Given the description of an element on the screen output the (x, y) to click on. 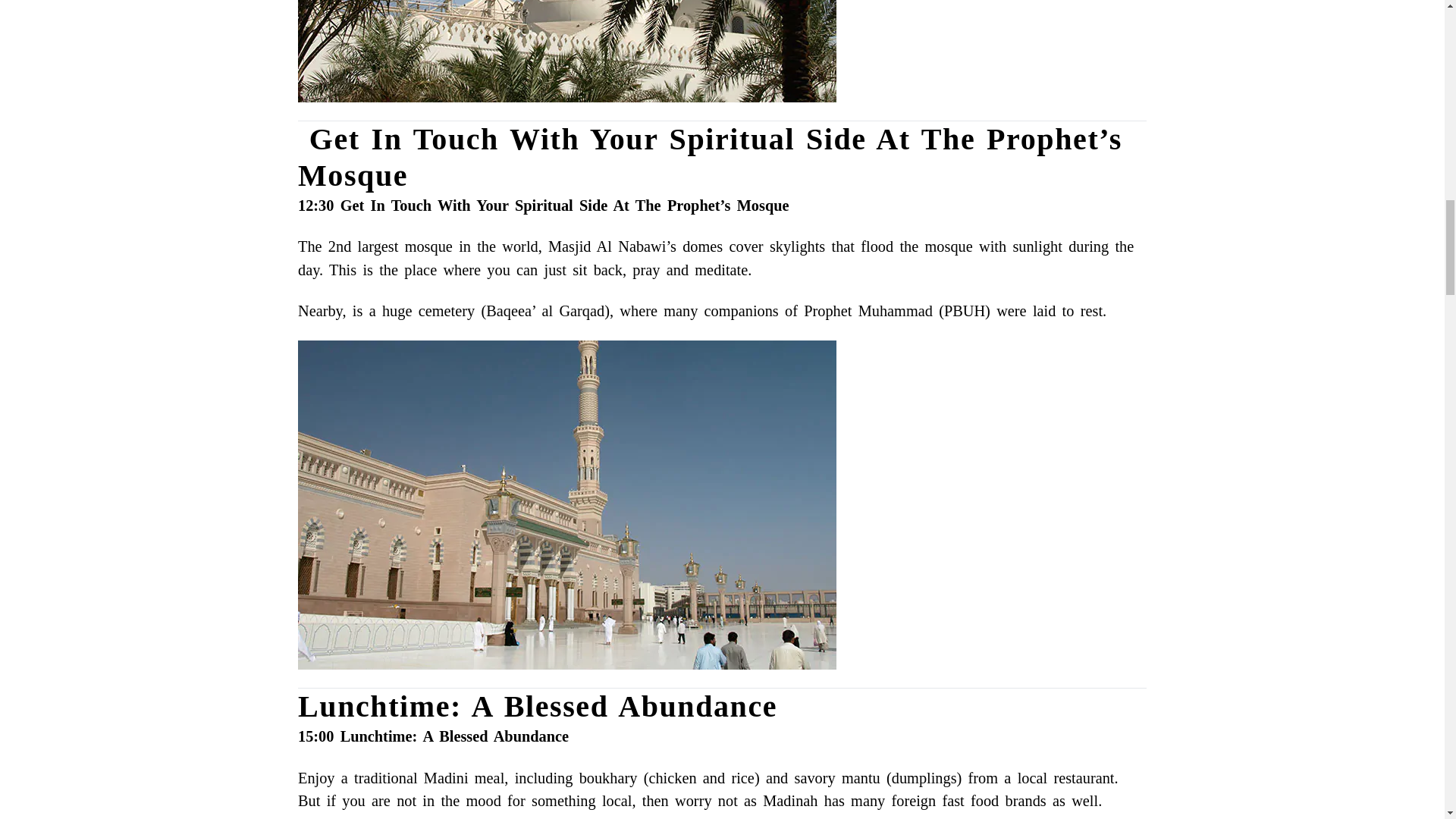
A First-Timers Guide To Madinah 14 (566, 51)
